Given the description of an element on the screen output the (x, y) to click on. 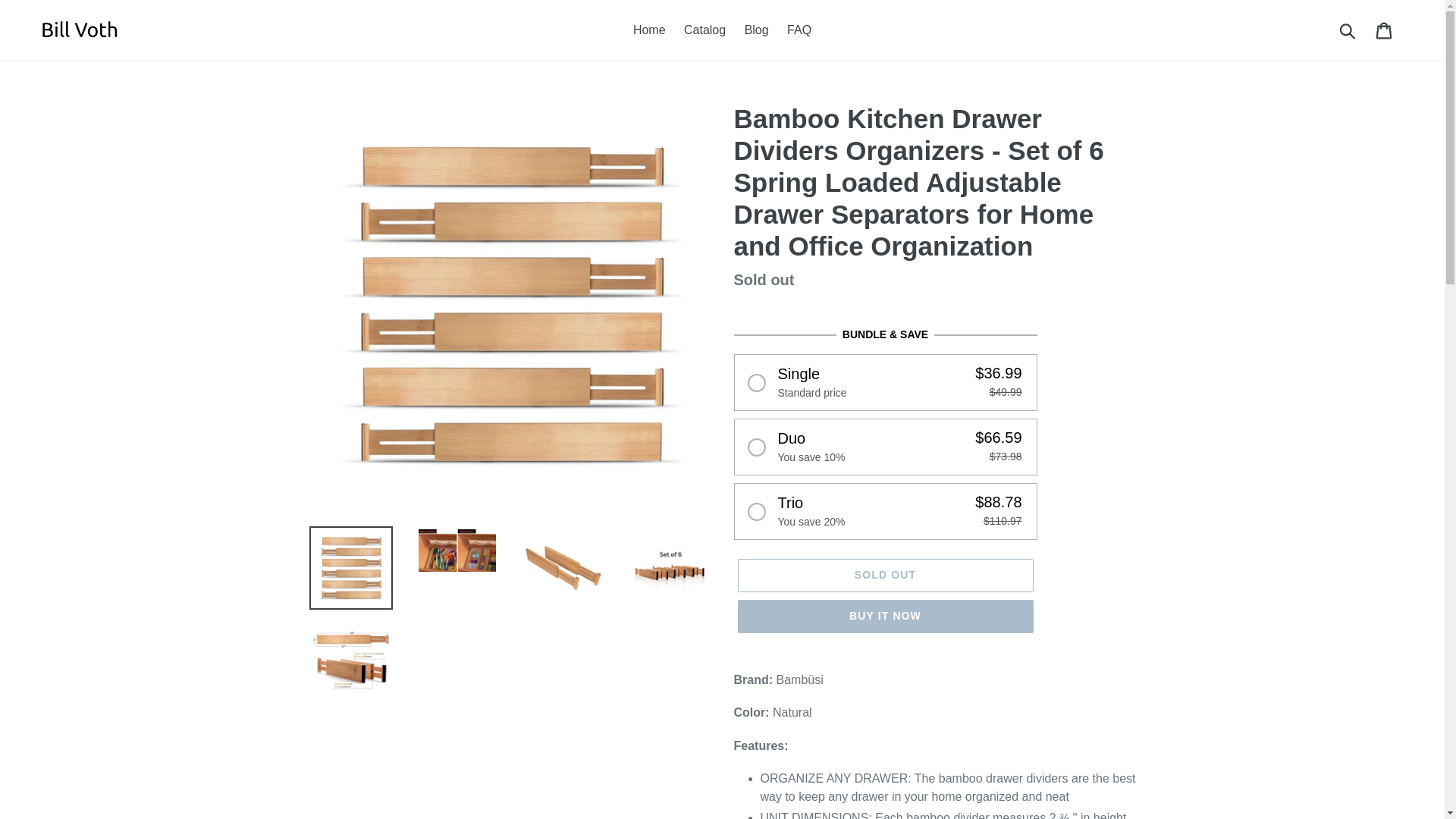
Submit (1348, 29)
Home (649, 29)
Blog (756, 29)
SOLD OUT (884, 575)
FAQ (798, 29)
Catalog (705, 29)
BUY IT NOW (884, 616)
Cart (1385, 29)
